Given the description of an element on the screen output the (x, y) to click on. 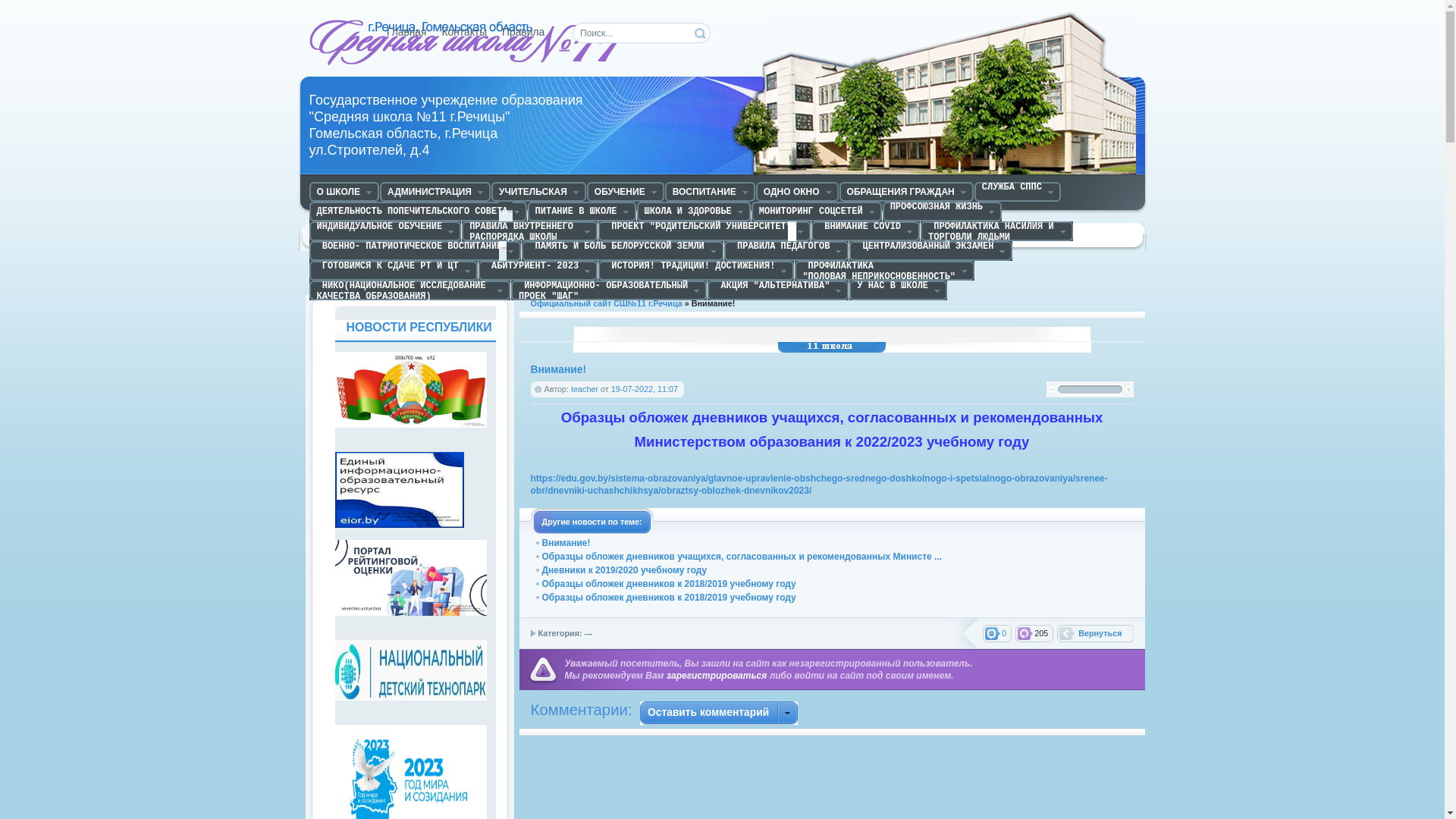
1 Element type: text (1063, 388)
3 Element type: text (1088, 388)
5 Element type: text (1114, 388)
teacher Element type: text (584, 388)
4 Element type: text (1102, 388)
2 Element type: text (1076, 388)
19-07-2022, 11:07 Element type: text (644, 388)
